Given the description of an element on the screen output the (x, y) to click on. 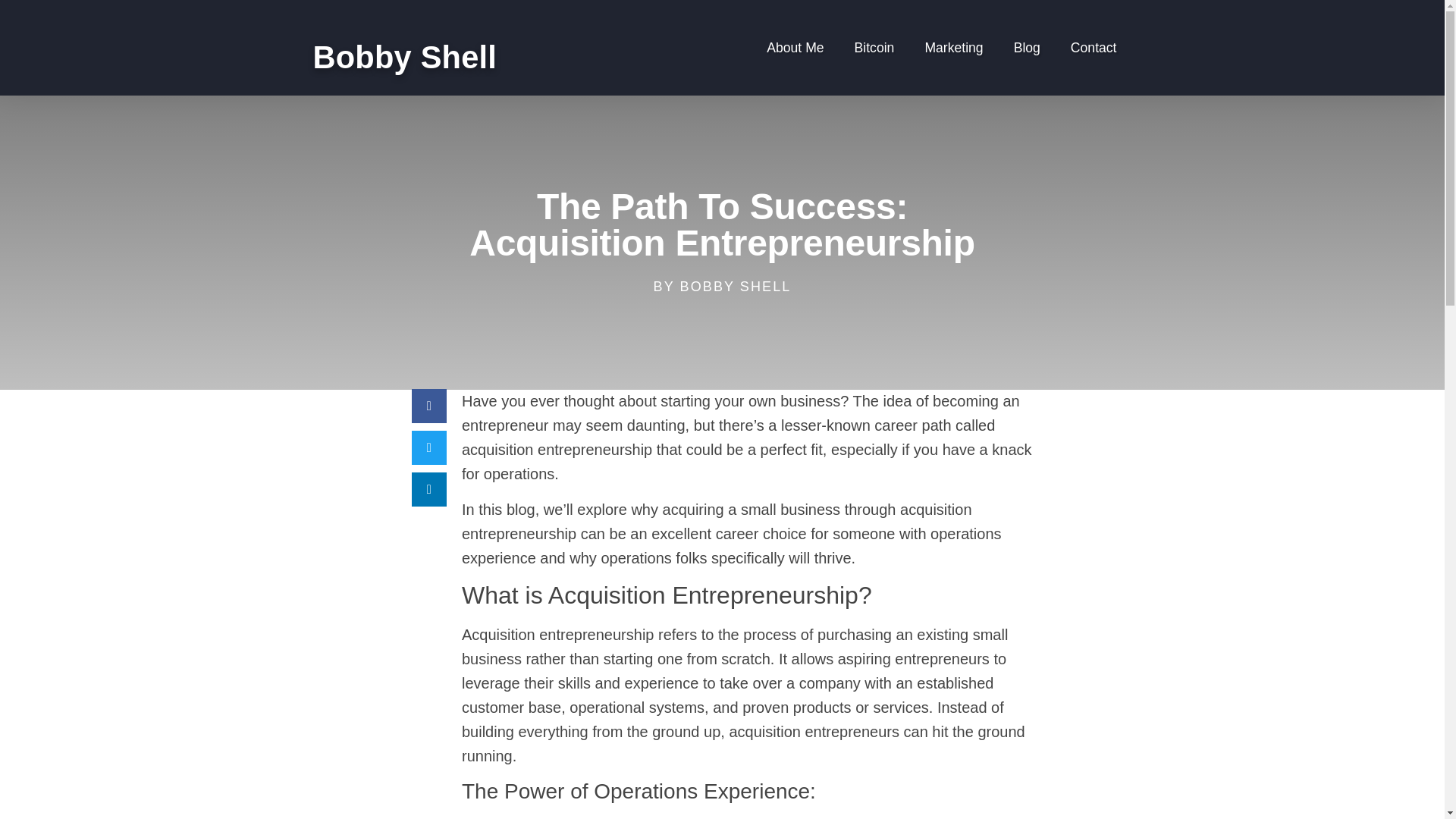
Marketing (952, 47)
Contact (1093, 47)
About Me (794, 47)
Bitcoin (875, 47)
Bobby Shell (404, 57)
BY BOBBY SHELL (722, 286)
Blog (1026, 47)
